Given the description of an element on the screen output the (x, y) to click on. 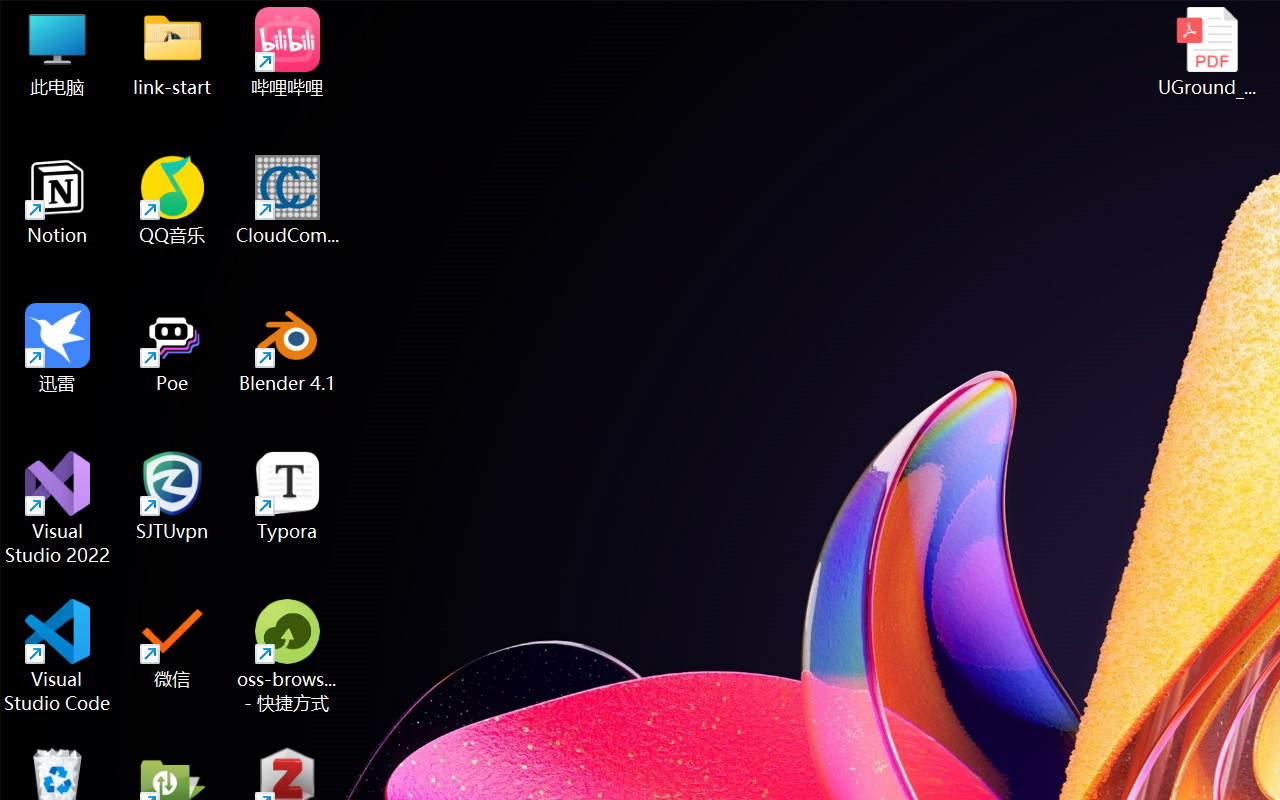
Visual Studio 2022 (57, 508)
CloudCompare (287, 200)
Typora (287, 496)
UGround_paper.pdf (1206, 52)
Blender 4.1 (287, 348)
Visual Studio Code (57, 656)
